Given the description of an element on the screen output the (x, y) to click on. 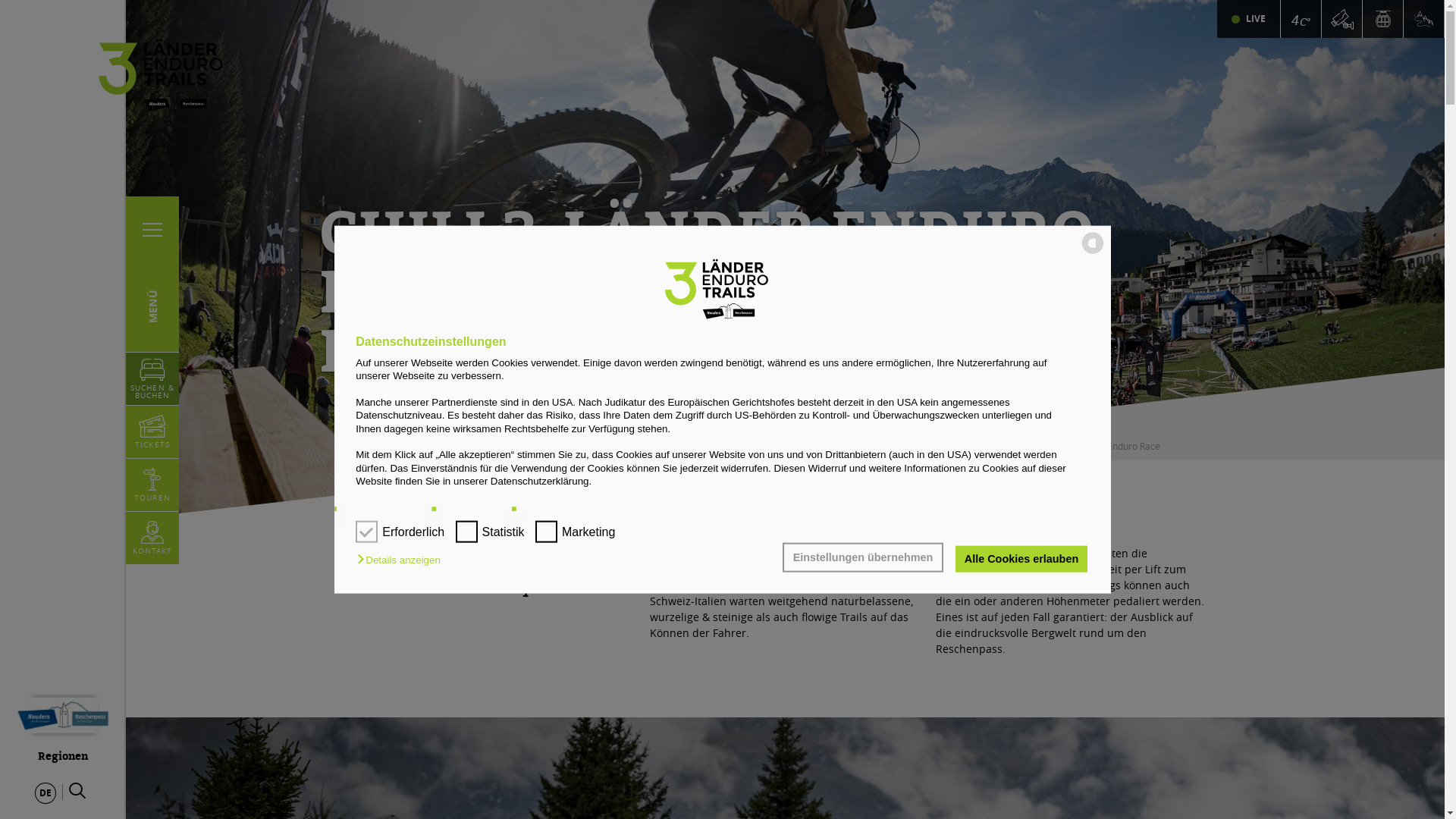
Webcam Element type: hover (1341, 19)
Enduro Trails Element type: hover (1423, 18)
Details anzeigen Element type: text (401, 560)
powered by Datareporter Element type: hover (1092, 252)
TOUREN Element type: text (152, 484)
SUCHEN & BUCHEN Element type: text (151, 378)
Startseite Element type: text (1030, 445)
Alle Cookies erlauben Element type: text (1020, 558)
Gondel Element type: hover (1382, 18)
KONTAKT Element type: text (152, 537)
Regionen Element type: text (62, 722)
Enduro Rennen pur rund um den Reschenpass! Element type: text (0, 0)
DE Element type: text (45, 792)
TICKETS Element type: text (151, 431)
